Given the description of an element on the screen output the (x, y) to click on. 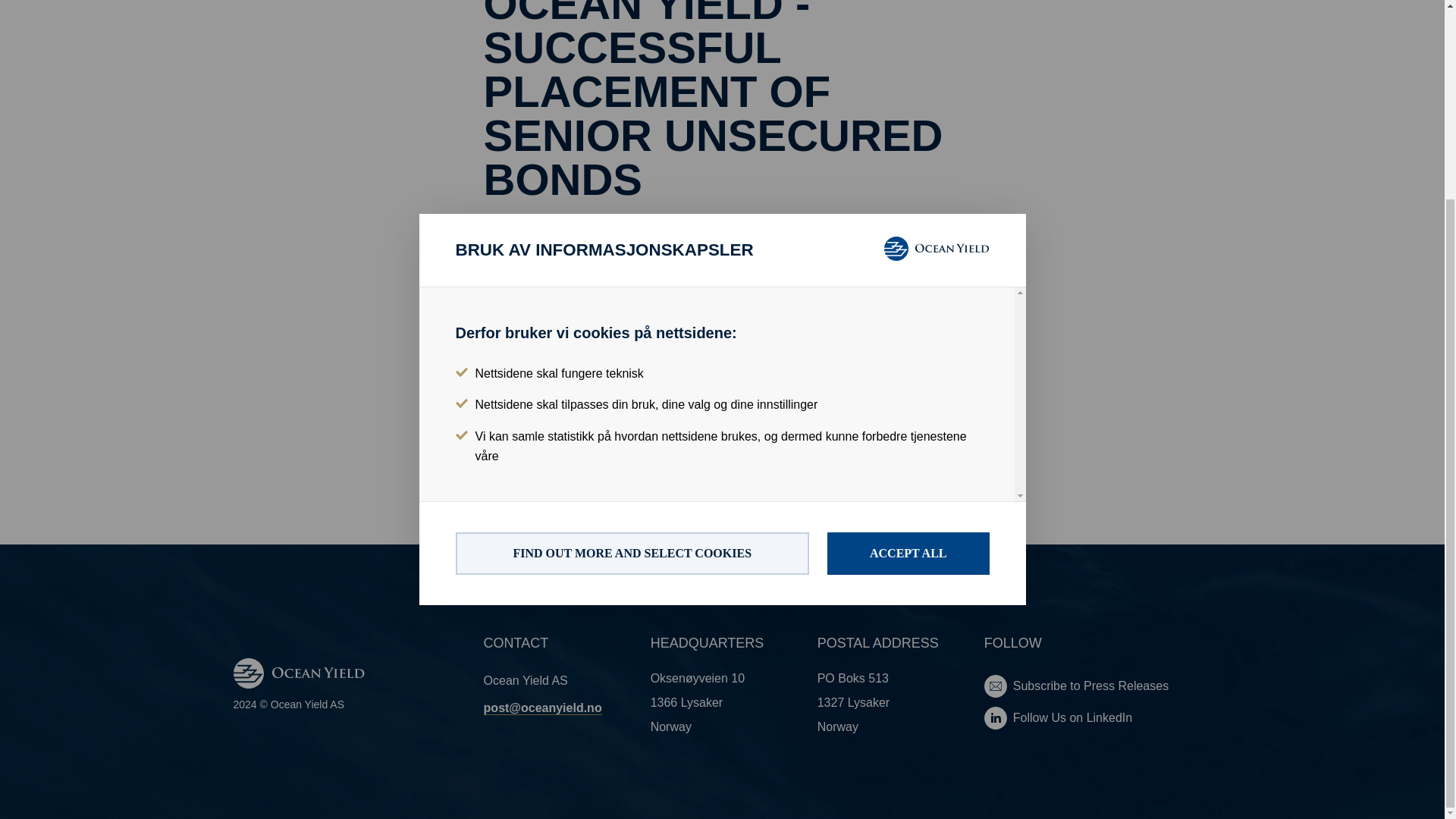
FIND OUT MORE AND SELECT COOKIES (631, 300)
Follow Us on LinkedIn (1097, 717)
Subscribe to Press Releases (1097, 685)
ACCEPT ALL (908, 300)
